Given the description of an element on the screen output the (x, y) to click on. 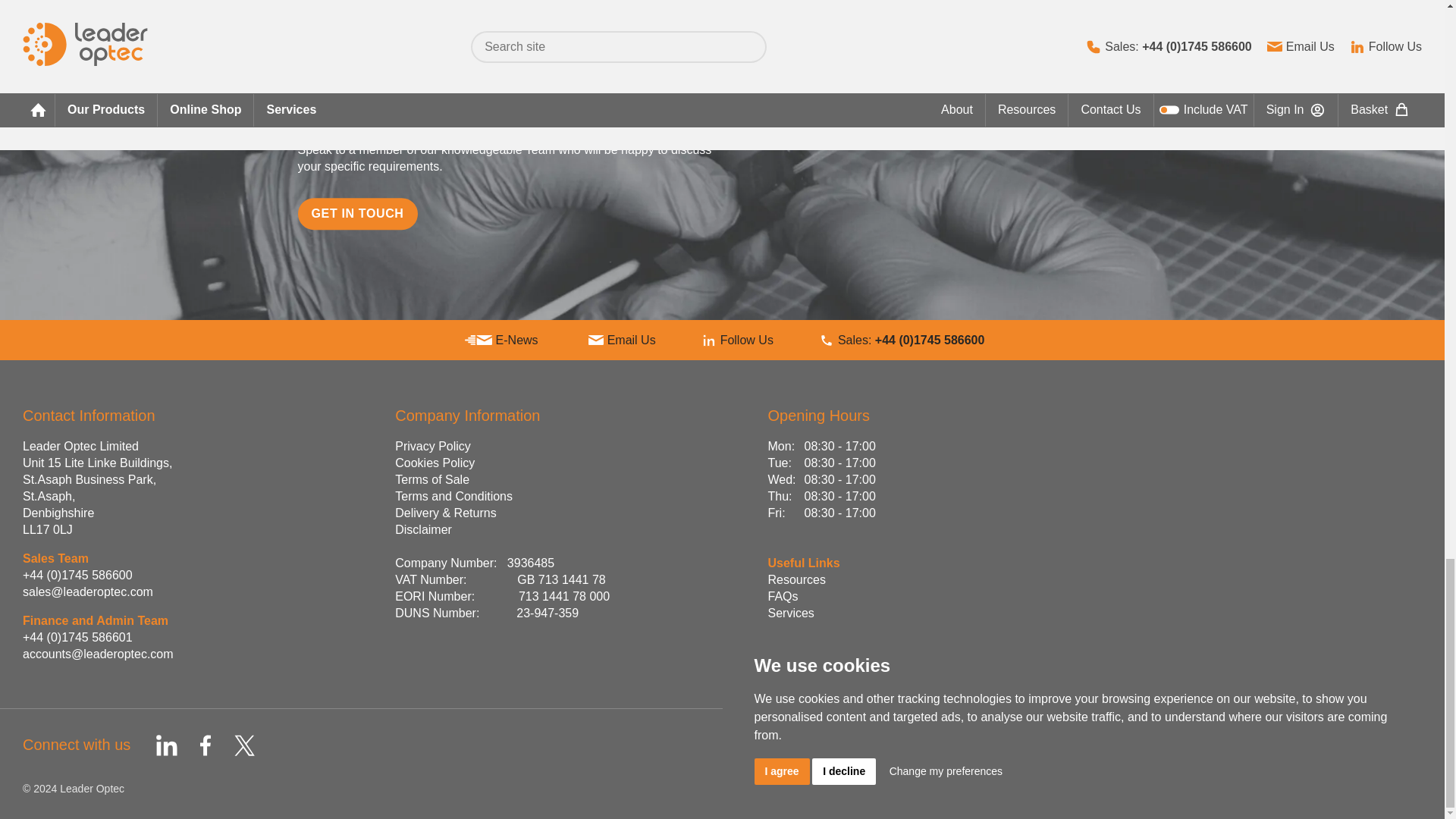
Digital Marketing, brand design and web development (1230, 788)
